Given the description of an element on the screen output the (x, y) to click on. 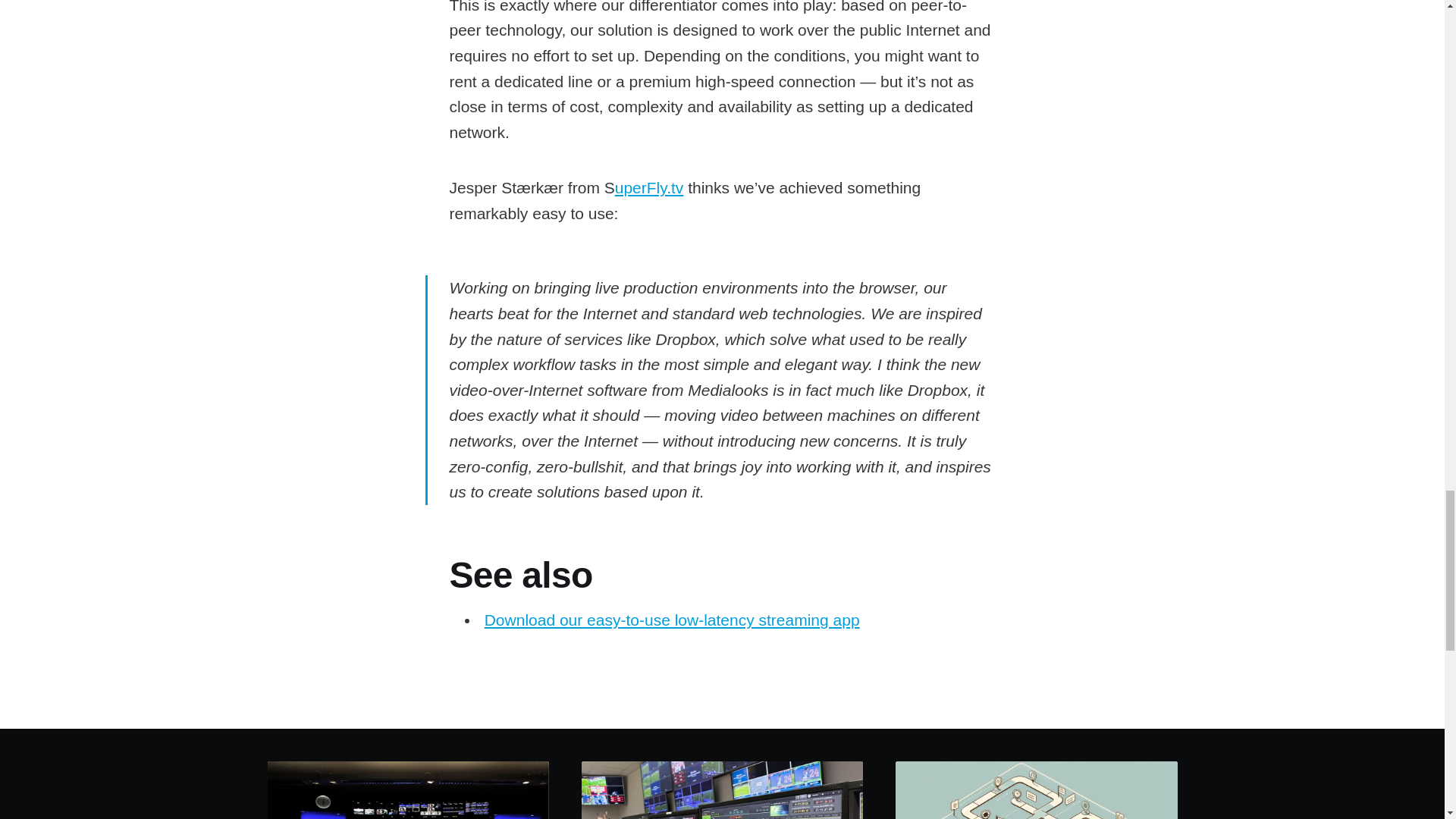
Download our easy-to-use low-latency streaming app (672, 619)
uperFly.tv (649, 187)
